Given the description of an element on the screen output the (x, y) to click on. 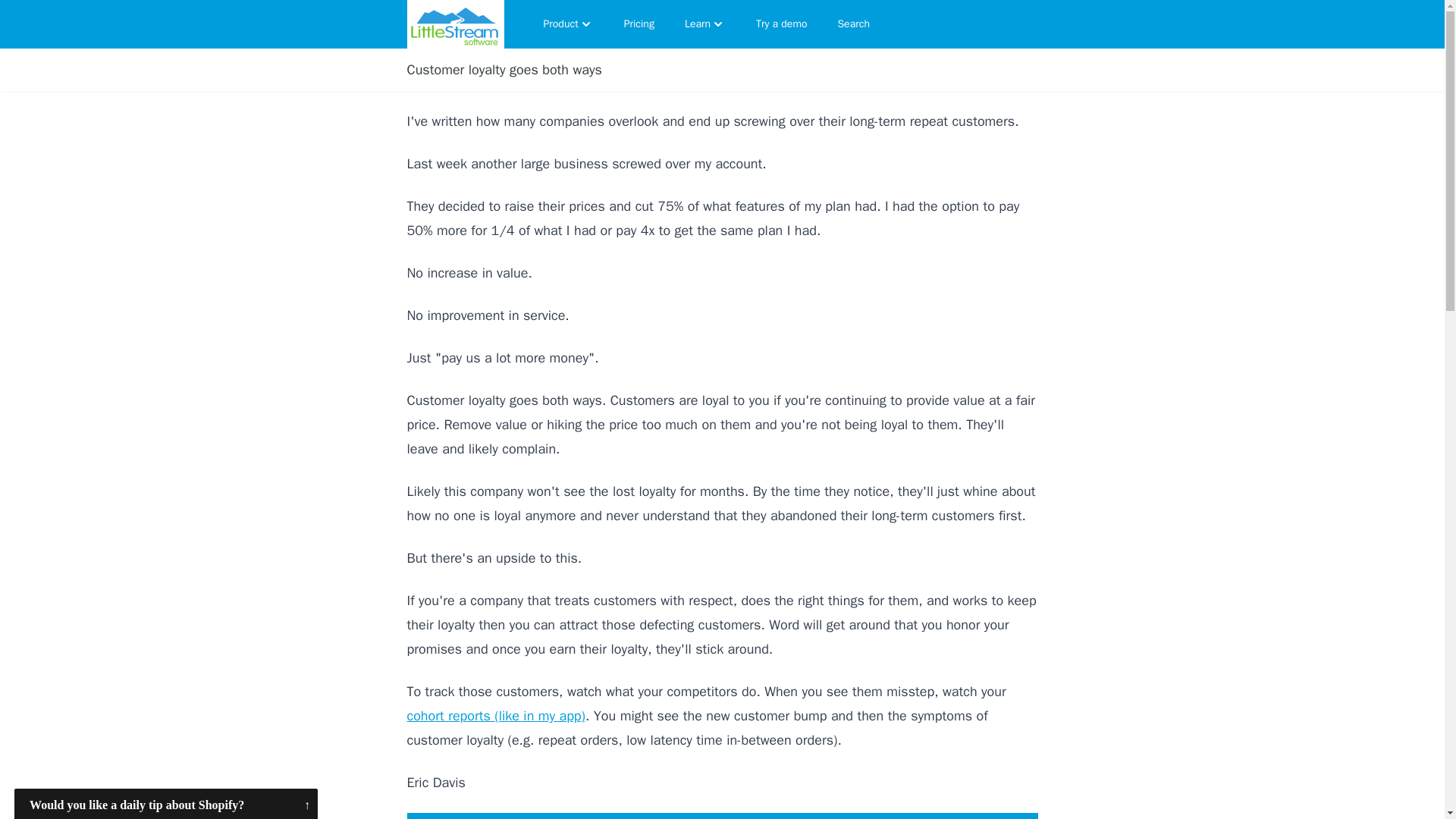
Try a demo (780, 23)
Product (568, 23)
Search (853, 23)
Pricing (638, 23)
Learn (705, 23)
Home (454, 24)
